Given the description of an element on the screen output the (x, y) to click on. 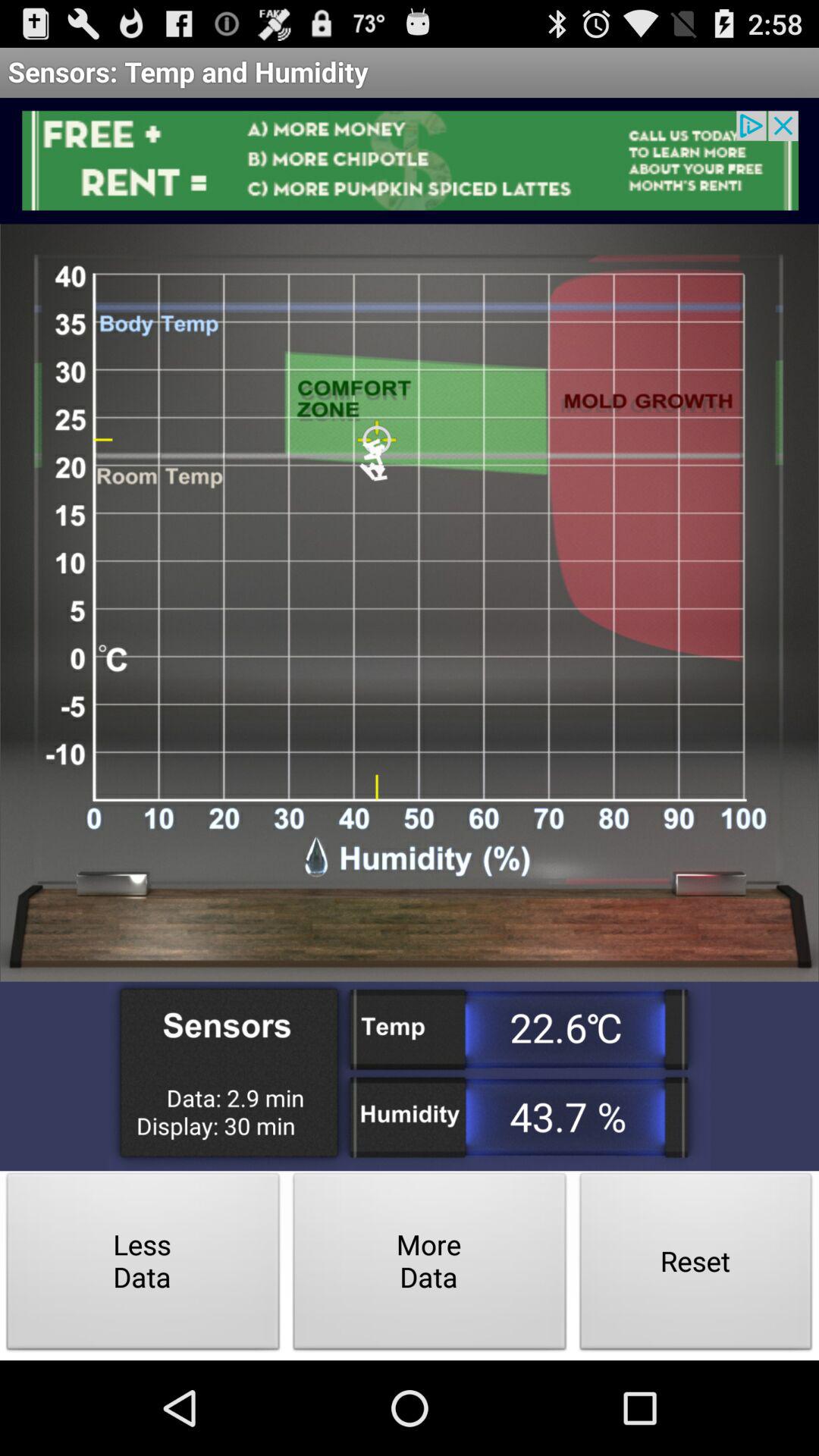
select the reset button (696, 1265)
